Given the description of an element on the screen output the (x, y) to click on. 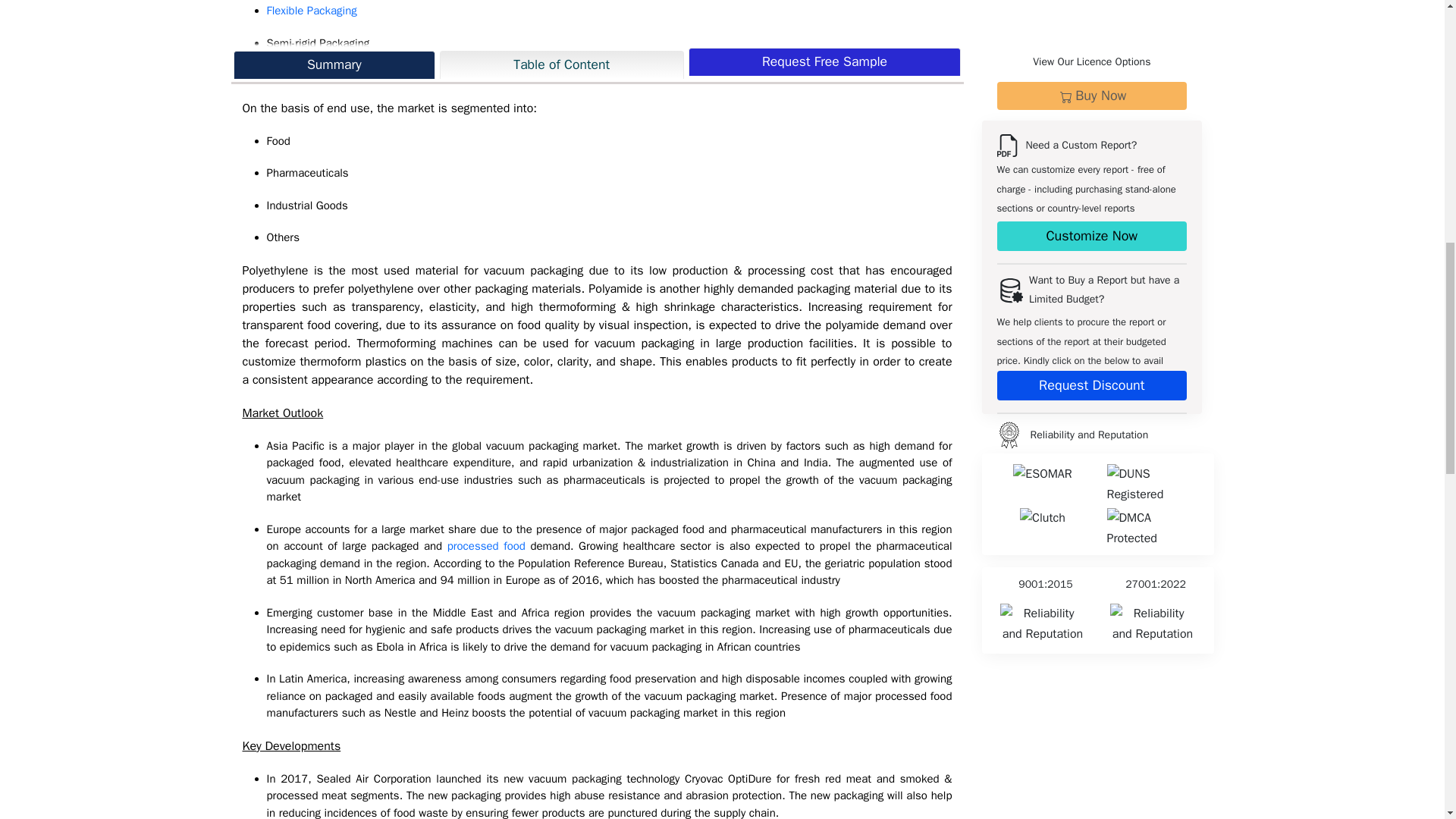
processed food market (485, 545)
Flexible Packaging Market (311, 10)
